Given the description of an element on the screen output the (x, y) to click on. 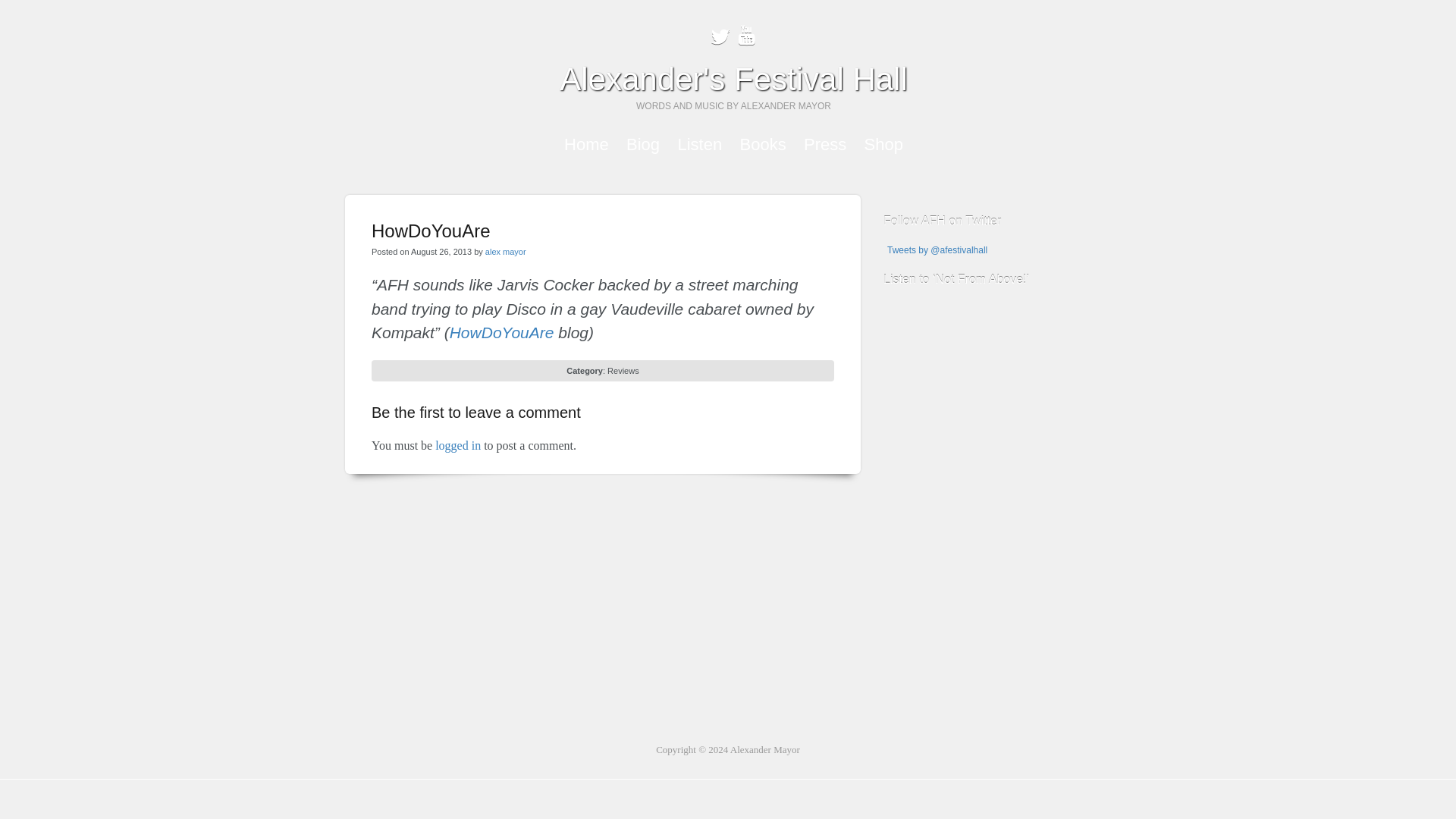
View all posts by alex mayor (504, 251)
logged in (457, 445)
HowDoYouAre (501, 332)
Books (762, 144)
Press (824, 144)
Alexander's Festival Hall (733, 79)
alex mayor (504, 251)
Reviews (623, 370)
Home (586, 144)
Biog (642, 144)
Shop (883, 144)
Alexander's Festival Hall (733, 79)
Listen (699, 144)
